Given the description of an element on the screen output the (x, y) to click on. 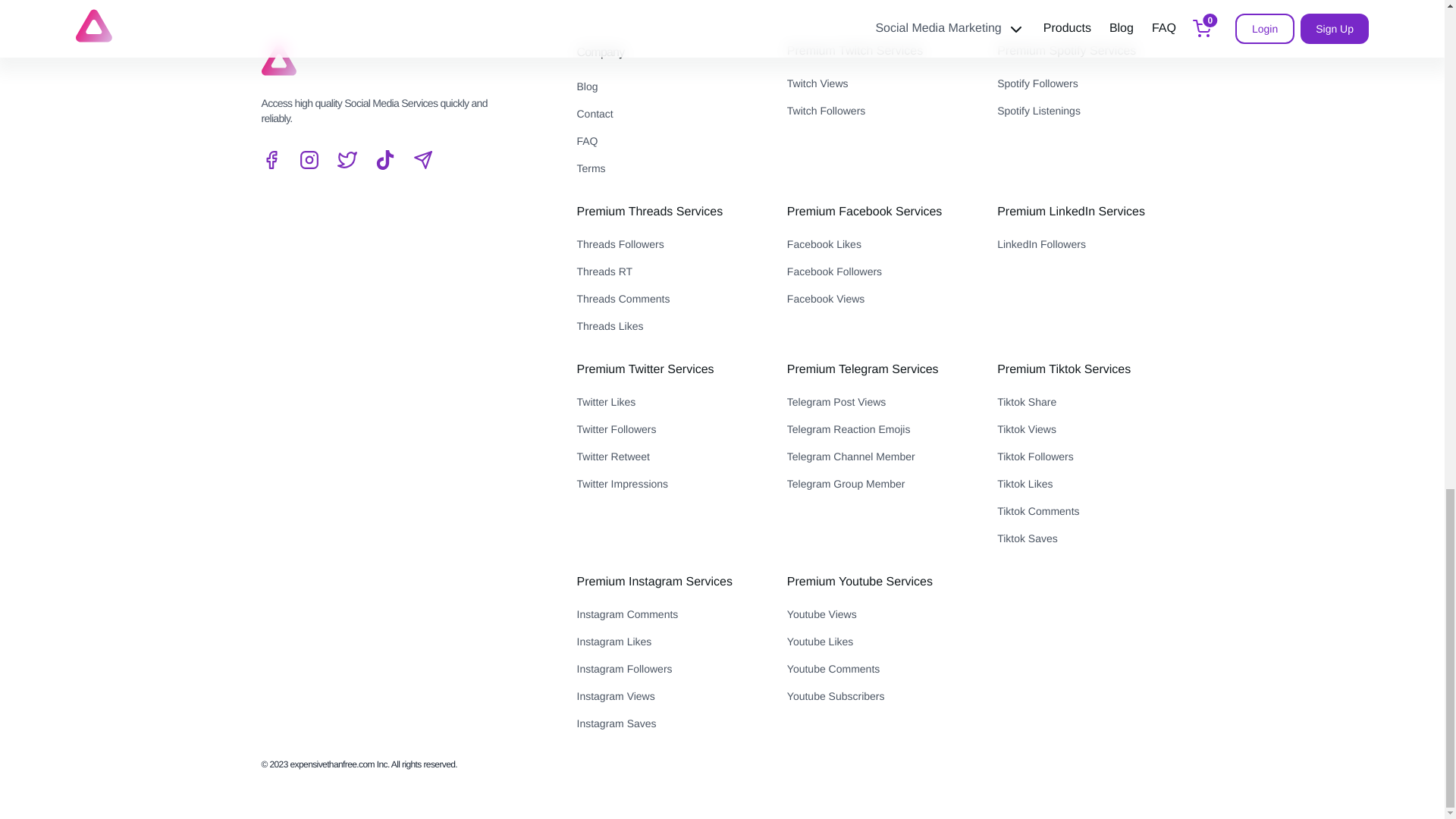
Facebook Followers (879, 271)
Premium LinkedIn Services (1070, 211)
Twitter Impressions (668, 483)
Premium Threads Services (649, 211)
Blog (668, 86)
Twitter Likes (668, 401)
Premium Twitter Services (644, 369)
FAQ (668, 140)
Facebook Views (879, 298)
Twitch Followers (879, 110)
